Given the description of an element on the screen output the (x, y) to click on. 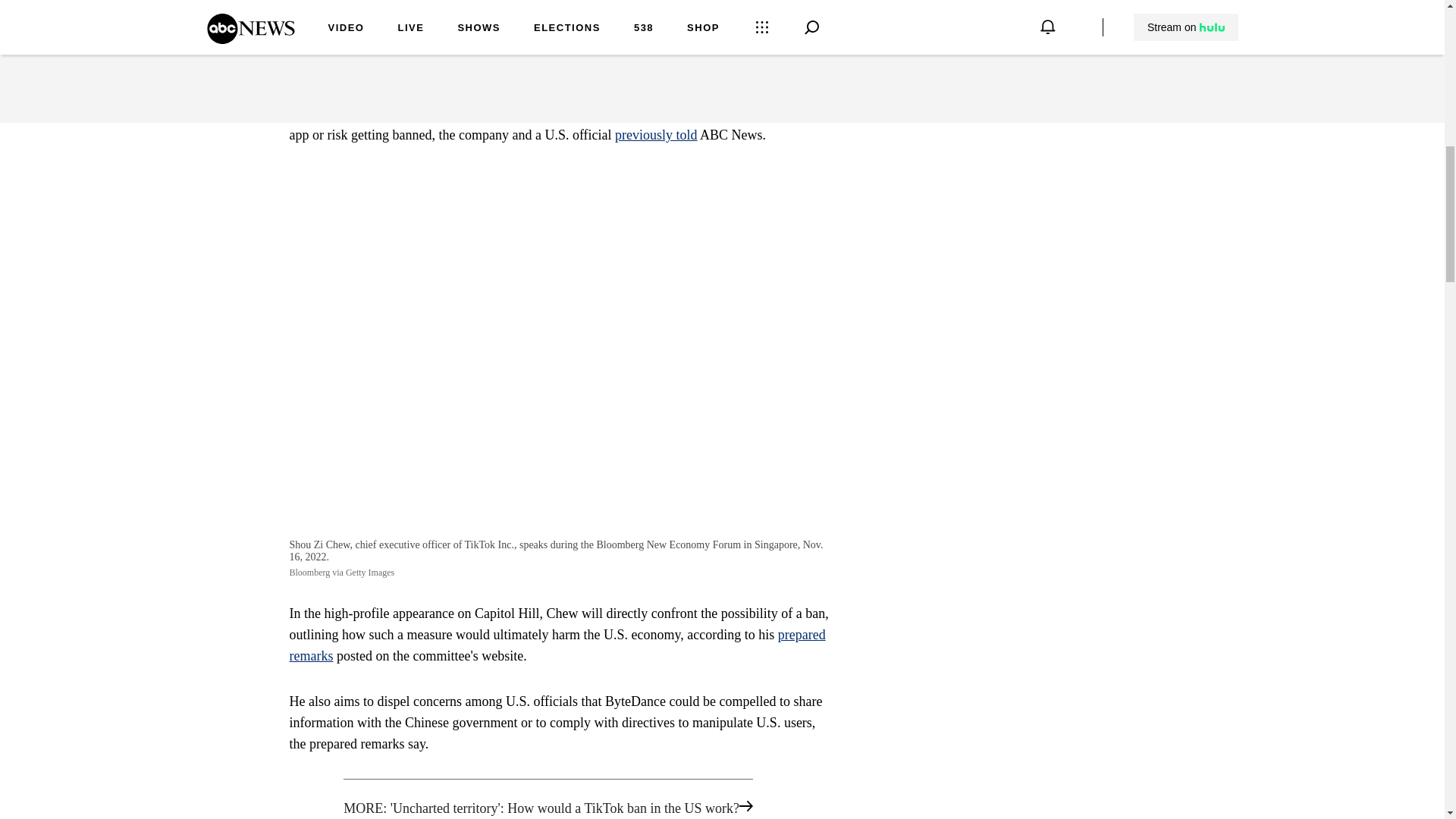
previously told (655, 134)
prepared remarks (557, 645)
